Given the description of an element on the screen output the (x, y) to click on. 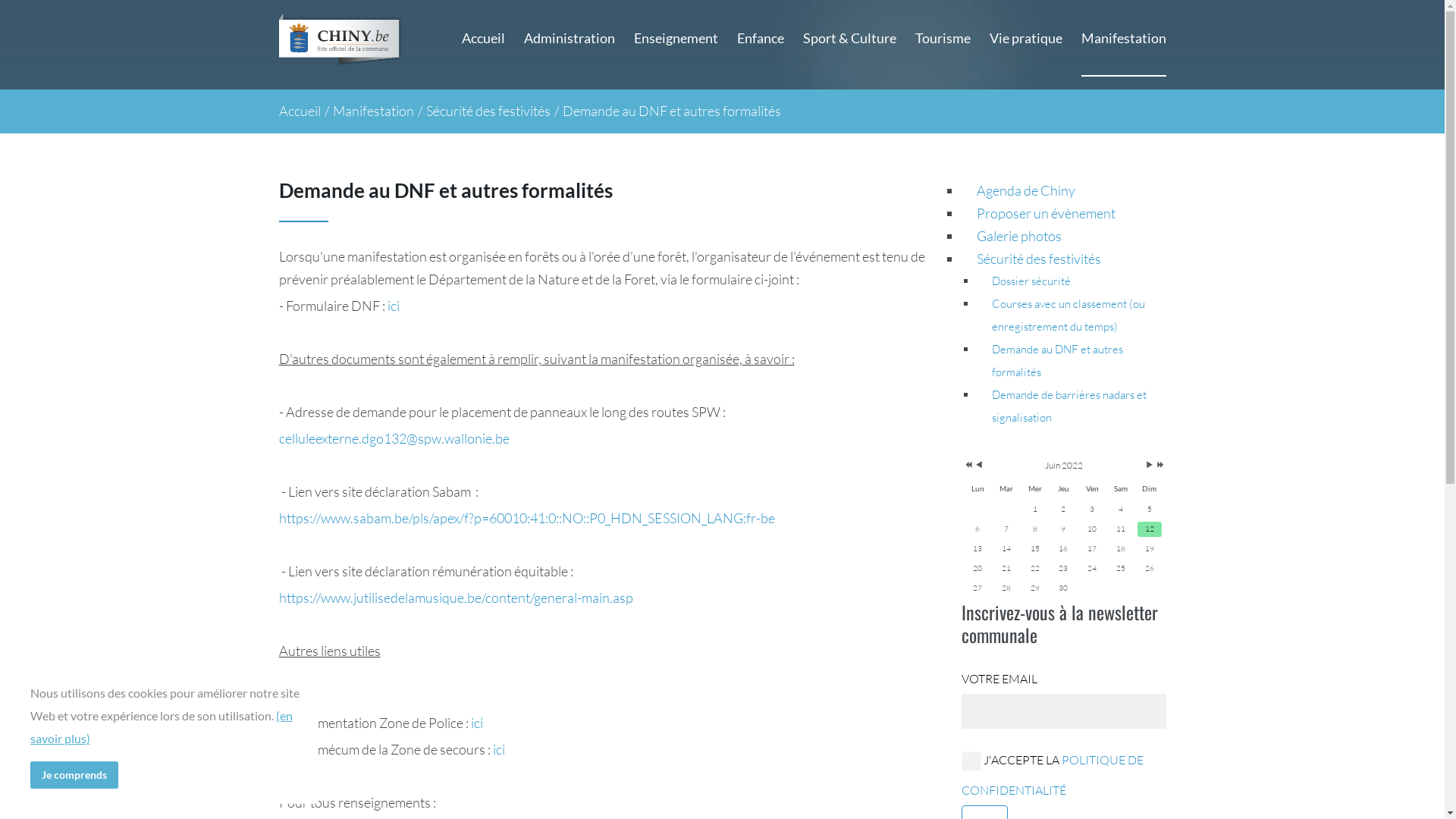
Accueil Element type: text (299, 110)
ici Element type: text (476, 722)
ici Element type: text (392, 305)
Chiny.be Element type: hover (343, 41)
Je comprends Element type: text (74, 774)
Accueil Element type: text (482, 37)
celluleexterne.dgo132@spw.wallonie.be Element type: text (394, 437)
ici Element type: text (498, 748)
https://www.jutilisedelamusique.be/content/general-main.asp Element type: text (456, 597)
Galerie photos Element type: text (1018, 235)
Courses avec un classement (ou enregistrement du temps) Element type: text (1068, 314)
12 Element type: text (1149, 528)
(en savoir plus) Element type: text (161, 726)
Agenda de Chiny Element type: text (1025, 190)
Mois suivant Element type: text (1149, 465)
